Given the description of an element on the screen output the (x, y) to click on. 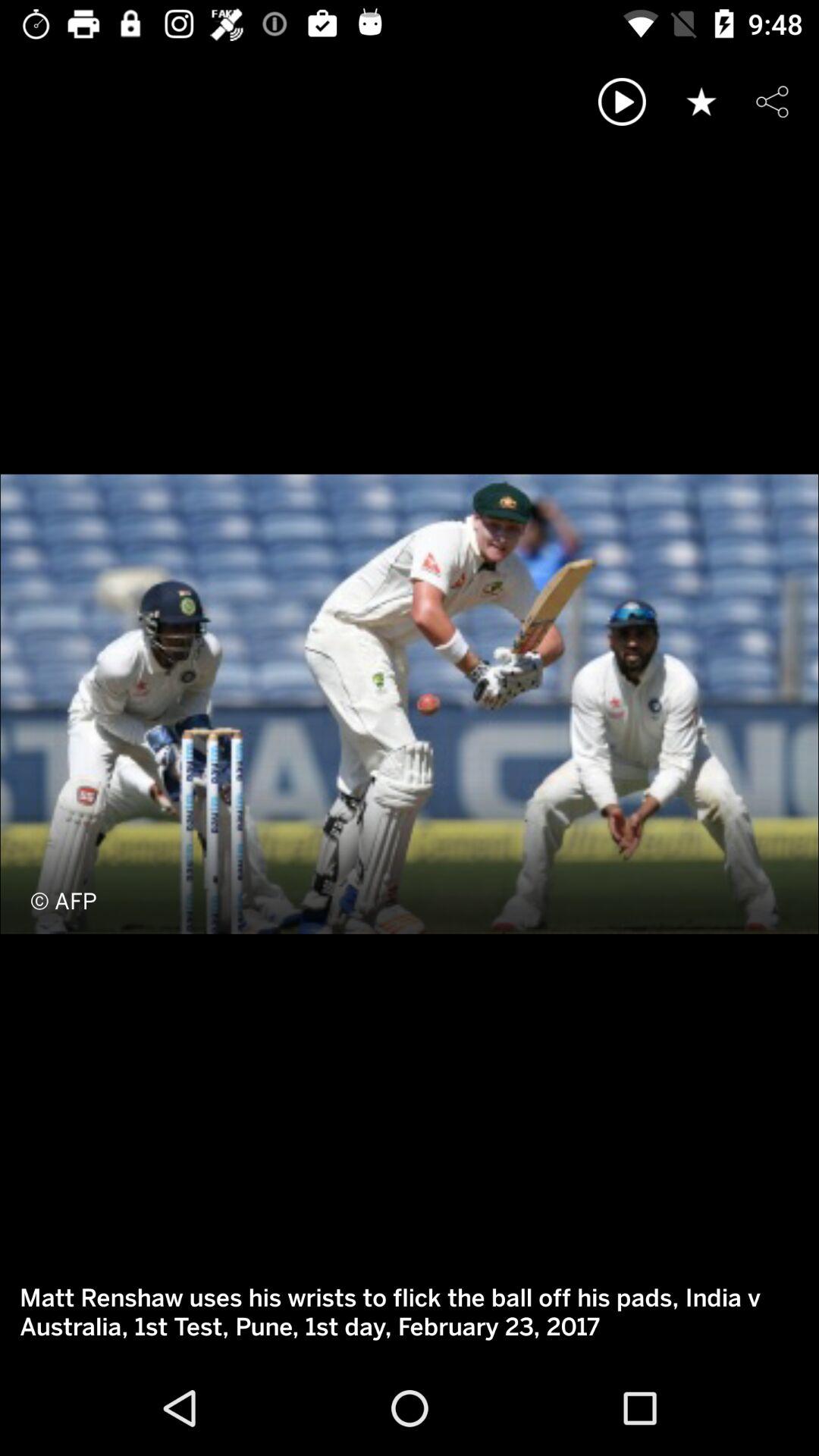
share photograph (772, 101)
